Given the description of an element on the screen output the (x, y) to click on. 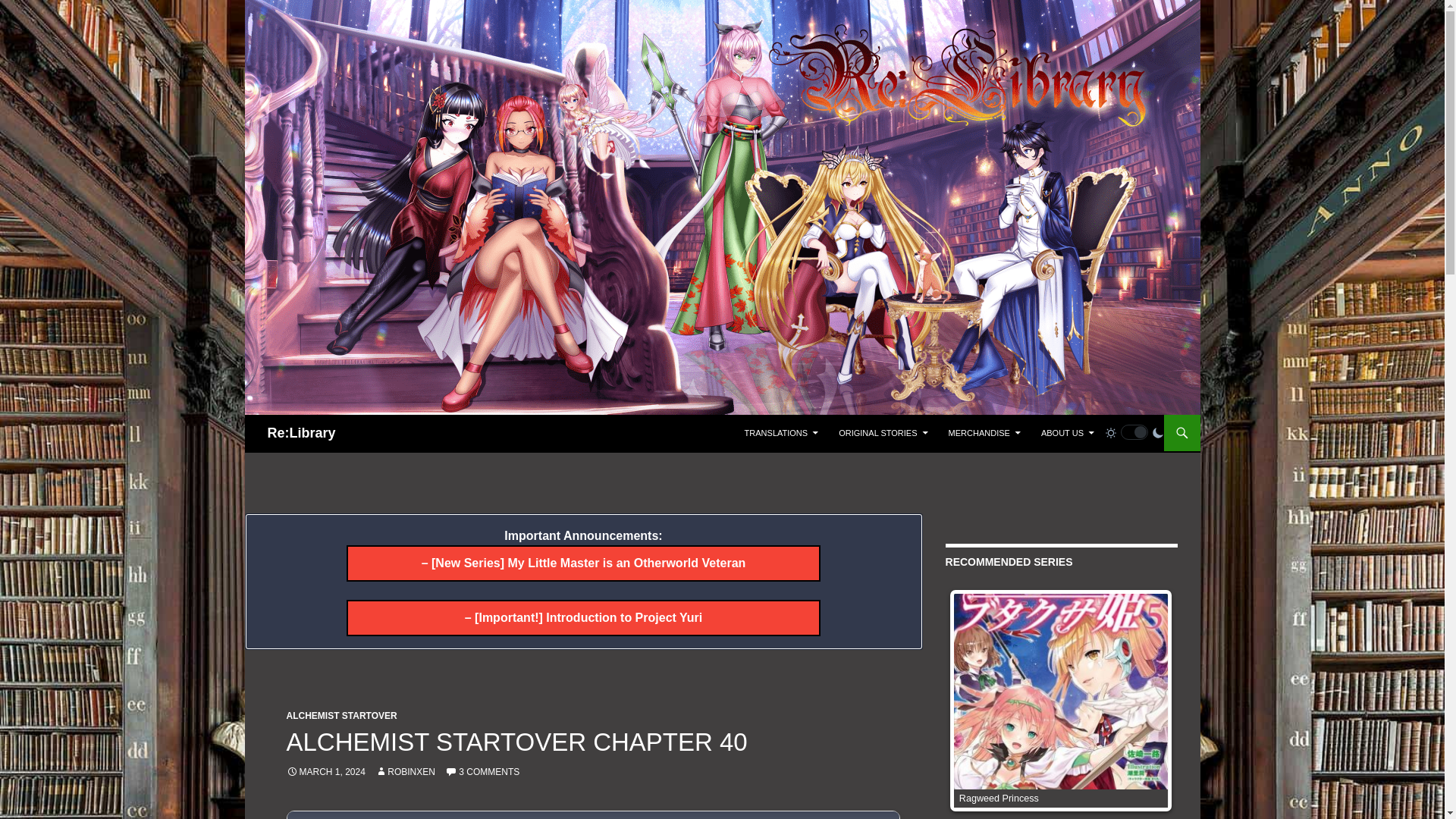
ALCHEMIST STARTOVER (341, 715)
ROBINXEN (405, 771)
TRANSLATIONS (781, 432)
ABOUT US (1067, 432)
Re:Library (300, 432)
MARCH 1, 2024 (325, 771)
3 COMMENTS (482, 771)
ORIGINAL STORIES (882, 432)
MERCHANDISE (984, 432)
